Given the description of an element on the screen output the (x, y) to click on. 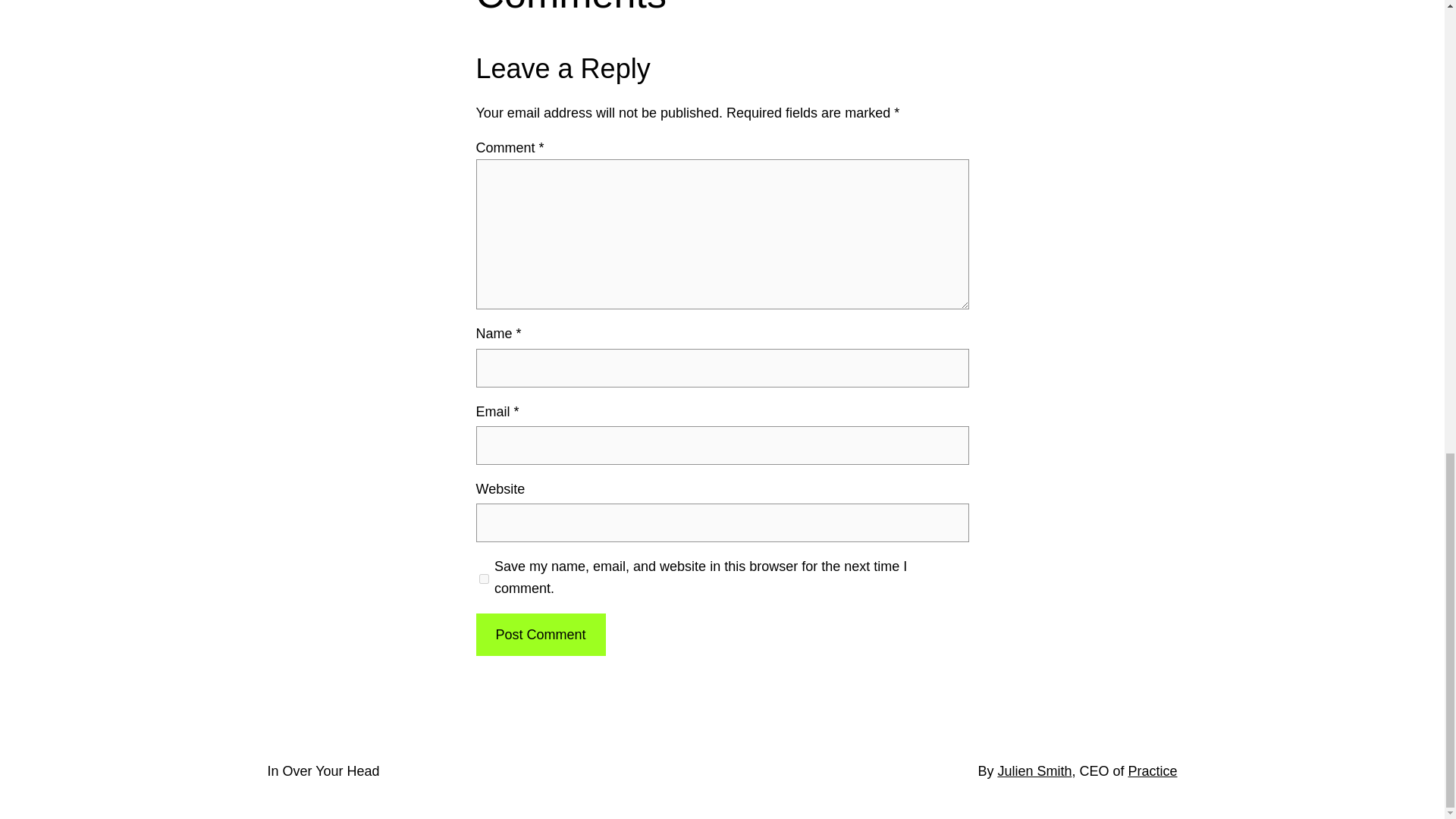
Julien Smith (1034, 770)
Practice (1151, 770)
Post Comment (540, 634)
In Over Your Head (322, 770)
Post Comment (540, 634)
